Given the description of an element on the screen output the (x, y) to click on. 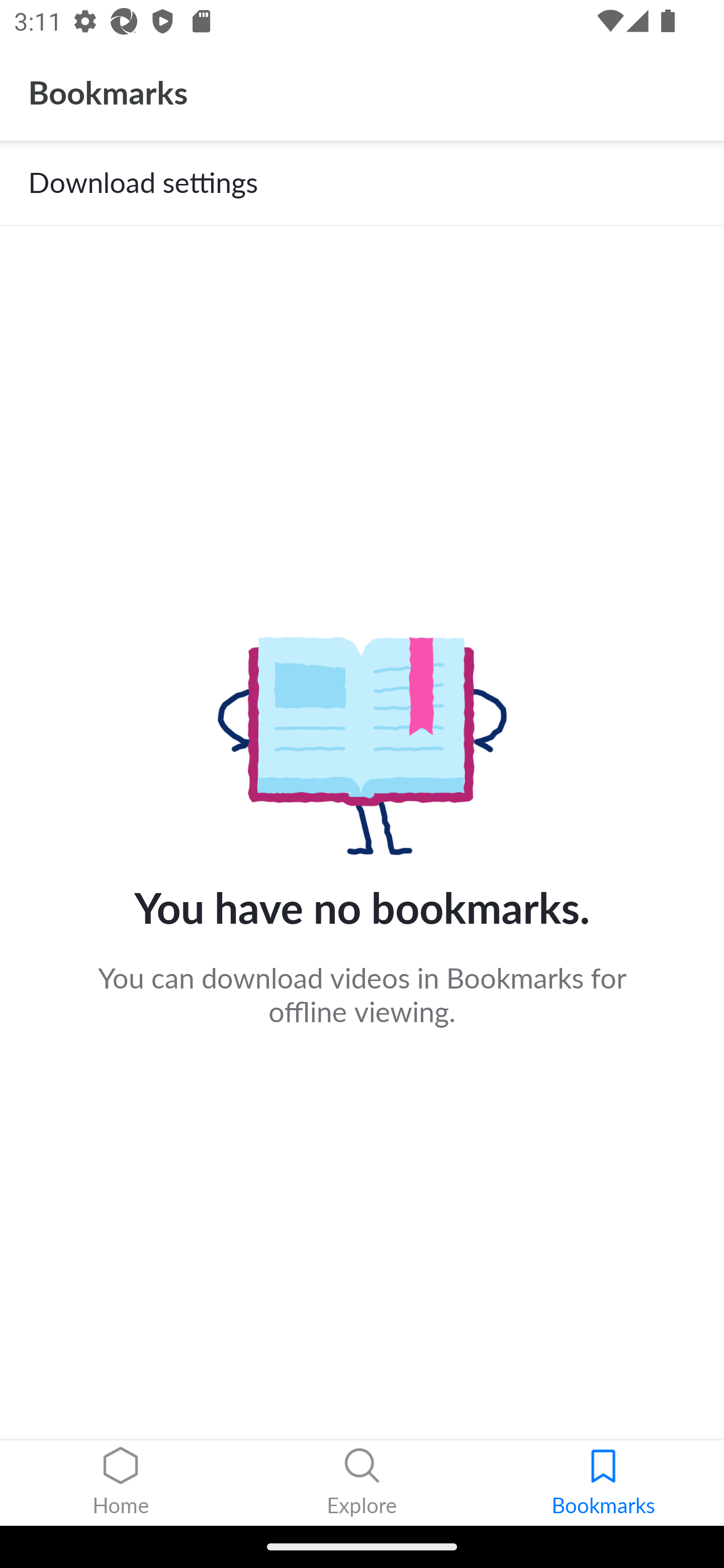
Download settings (362, 183)
Home (120, 1482)
Explore (361, 1482)
Bookmarks (603, 1482)
